Given the description of an element on the screen output the (x, y) to click on. 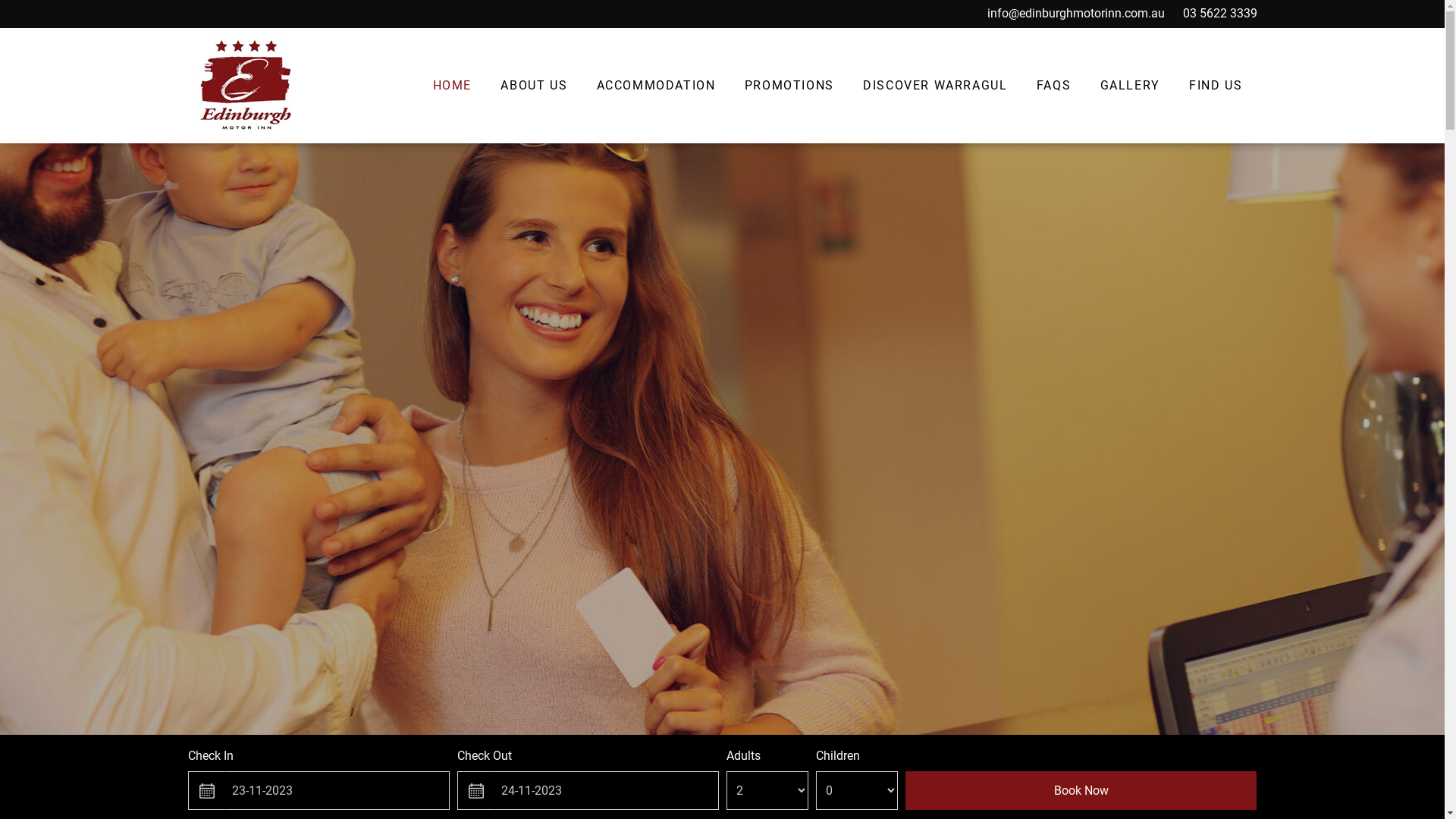
PROMOTIONS Element type: text (789, 85)
FIND US Element type: text (1215, 85)
info@edinburghmotorinn.com.au Element type: text (1075, 13)
Edinburgh Motor Inn Element type: hover (245, 85)
FAQS Element type: text (1053, 85)
GALLERY Element type: text (1129, 85)
DISCOVER WARRAGUL Element type: text (935, 85)
Book Now Element type: text (1080, 790)
ACCOMMODATION Element type: text (655, 85)
03 5622 3339 Element type: text (1220, 13)
HOME Element type: text (451, 85)
ABOUT US Element type: text (533, 85)
